Given the description of an element on the screen output the (x, y) to click on. 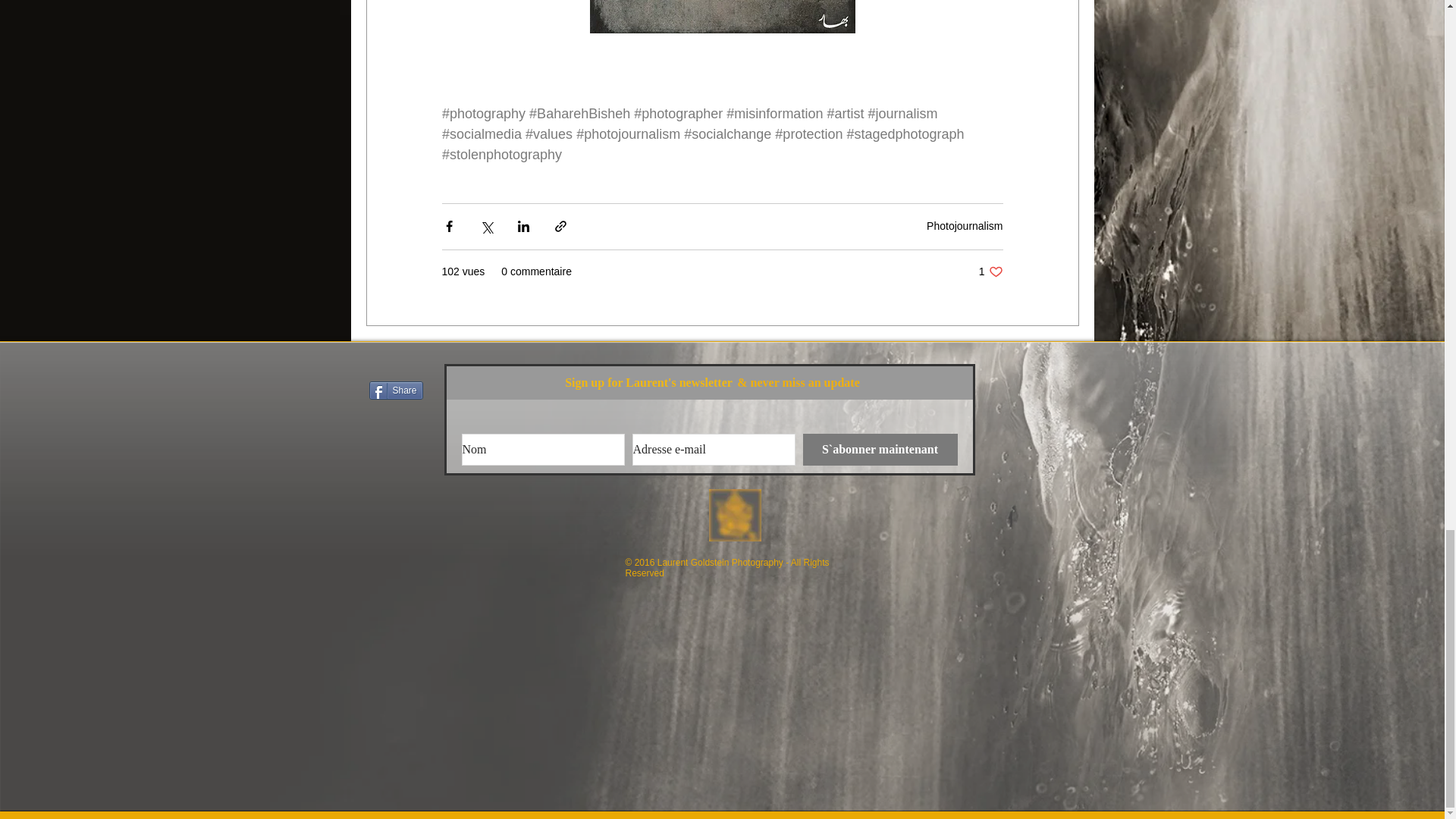
Bouton J'aime Facebook (397, 364)
Share (395, 390)
